Given the description of an element on the screen output the (x, y) to click on. 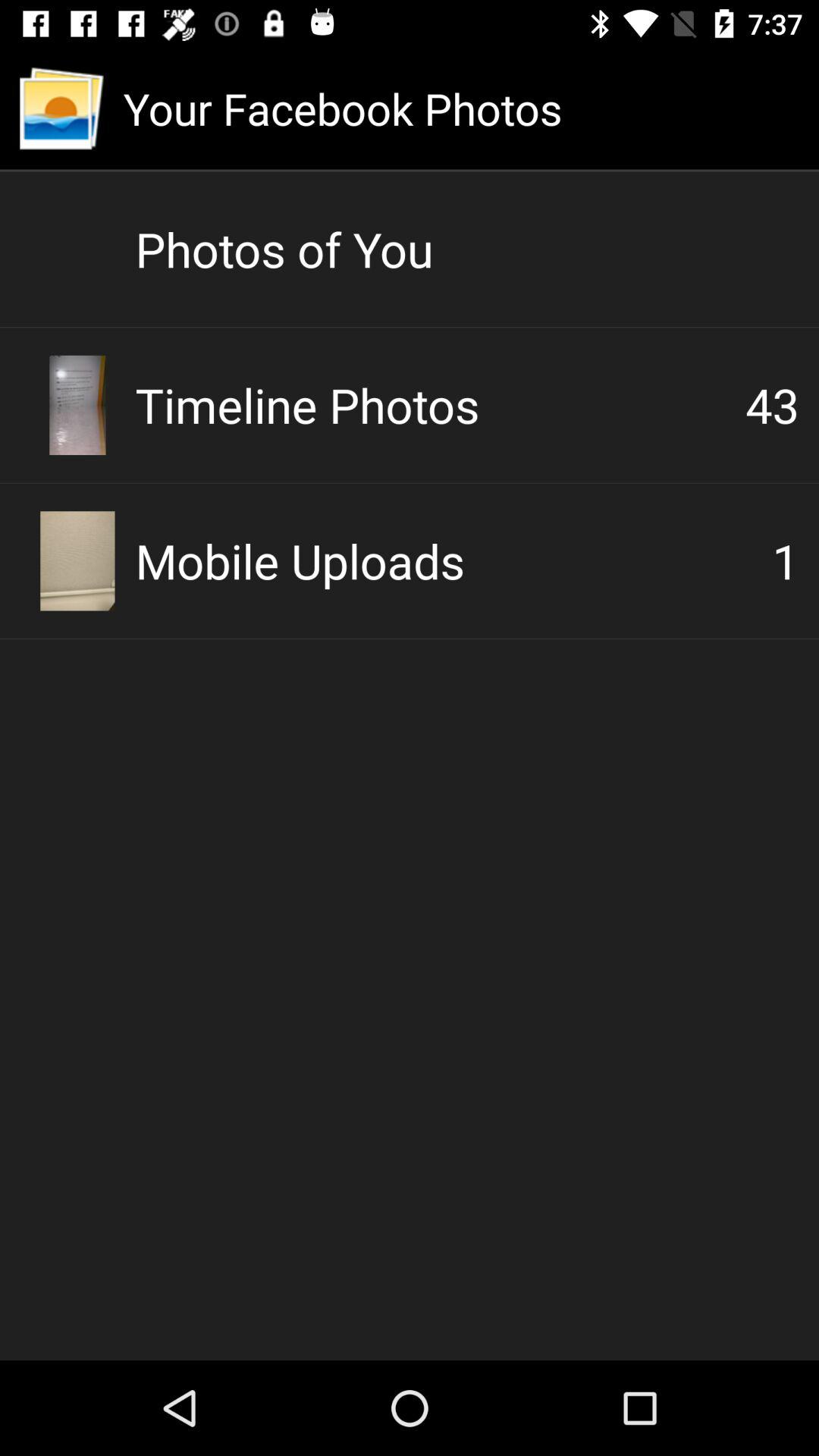
choose icon next to the timeline photos icon (772, 404)
